Given the description of an element on the screen output the (x, y) to click on. 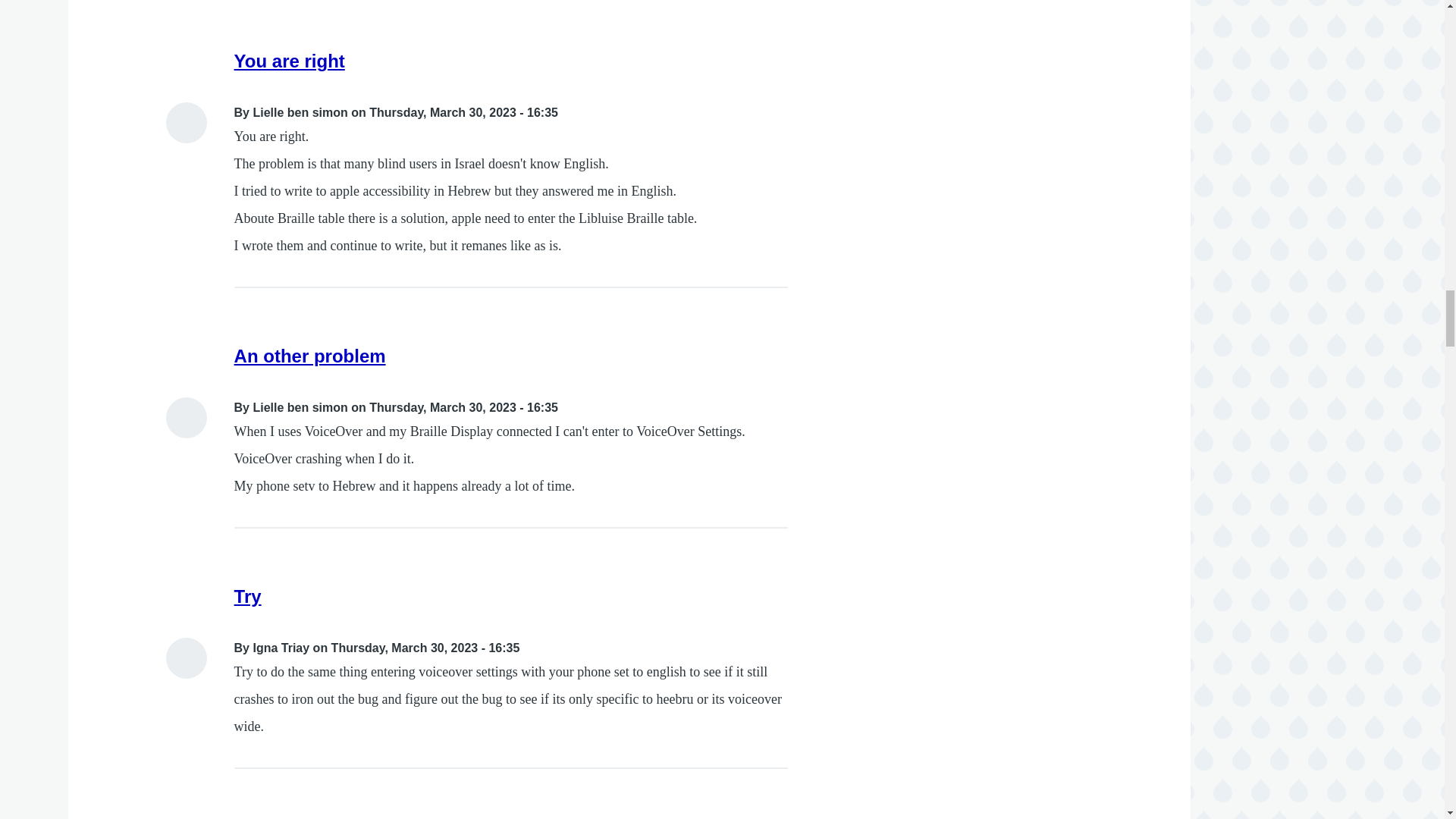
Try (248, 596)
An other problem (309, 355)
You are right (289, 60)
